Given the description of an element on the screen output the (x, y) to click on. 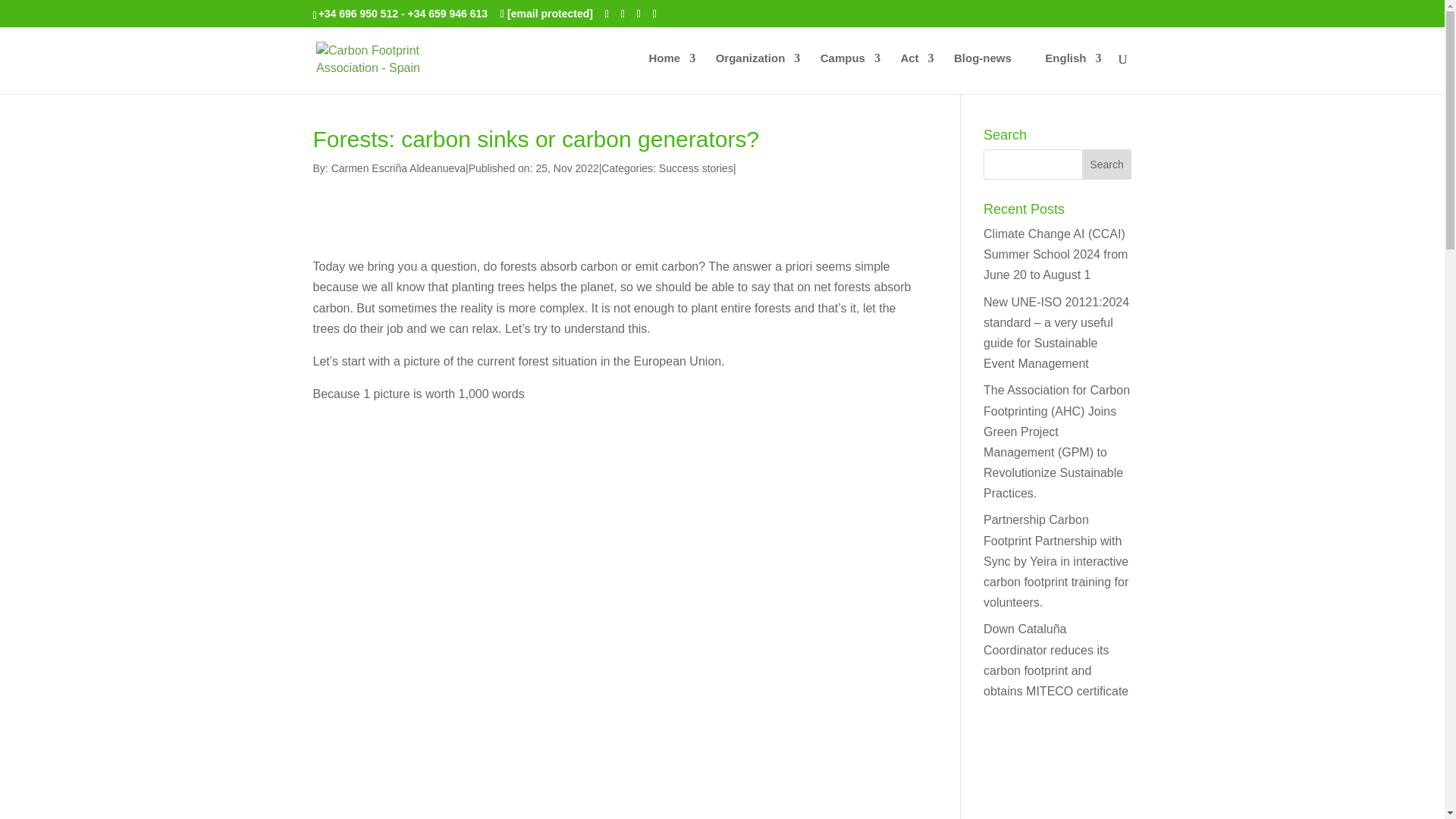
Search (1106, 164)
English (1065, 73)
Organization (758, 73)
Home (672, 73)
Campus (850, 73)
